Given the description of an element on the screen output the (x, y) to click on. 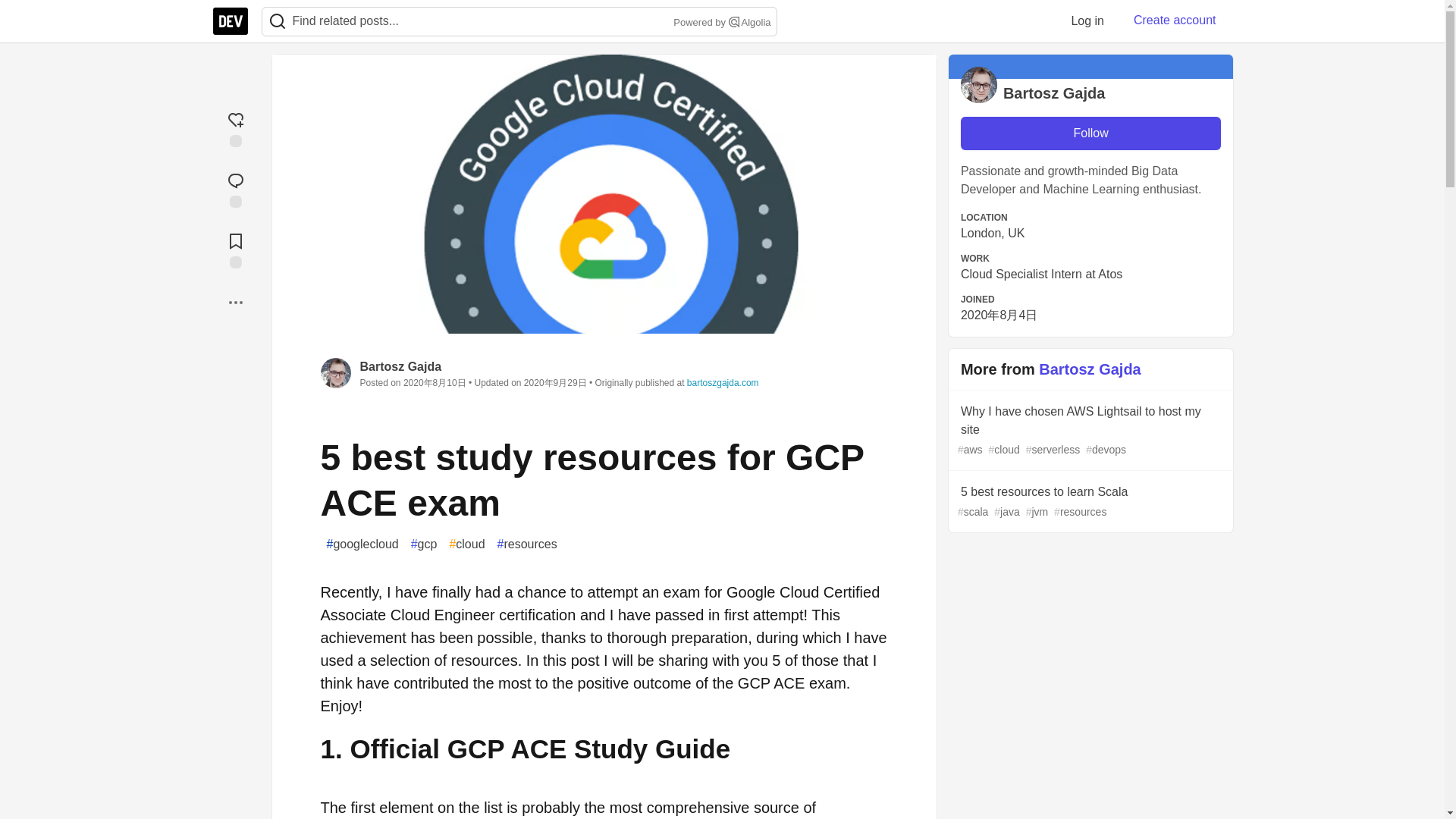
Search (734, 21)
More... (234, 302)
Search (277, 21)
Bartosz Gajda (400, 366)
Log in (1087, 20)
Search (276, 21)
Powered by Search Algolia (720, 22)
bartoszgajda.com (722, 382)
Create account (1174, 20)
More... (234, 302)
